Given the description of an element on the screen output the (x, y) to click on. 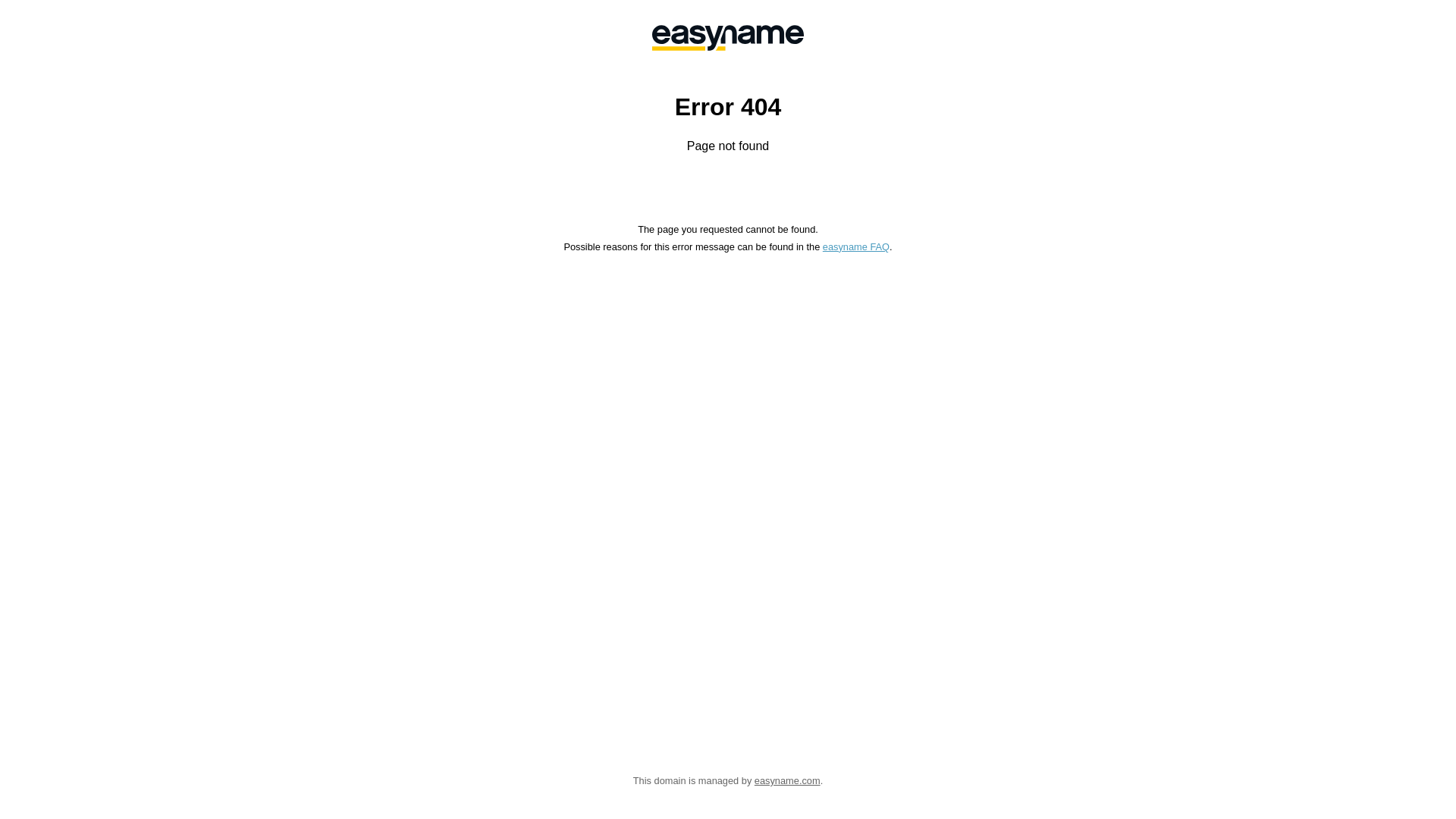
easyname.com Element type: text (787, 780)
easyname GmbH Element type: hover (727, 37)
easyname FAQ Element type: text (855, 246)
